Given the description of an element on the screen output the (x, y) to click on. 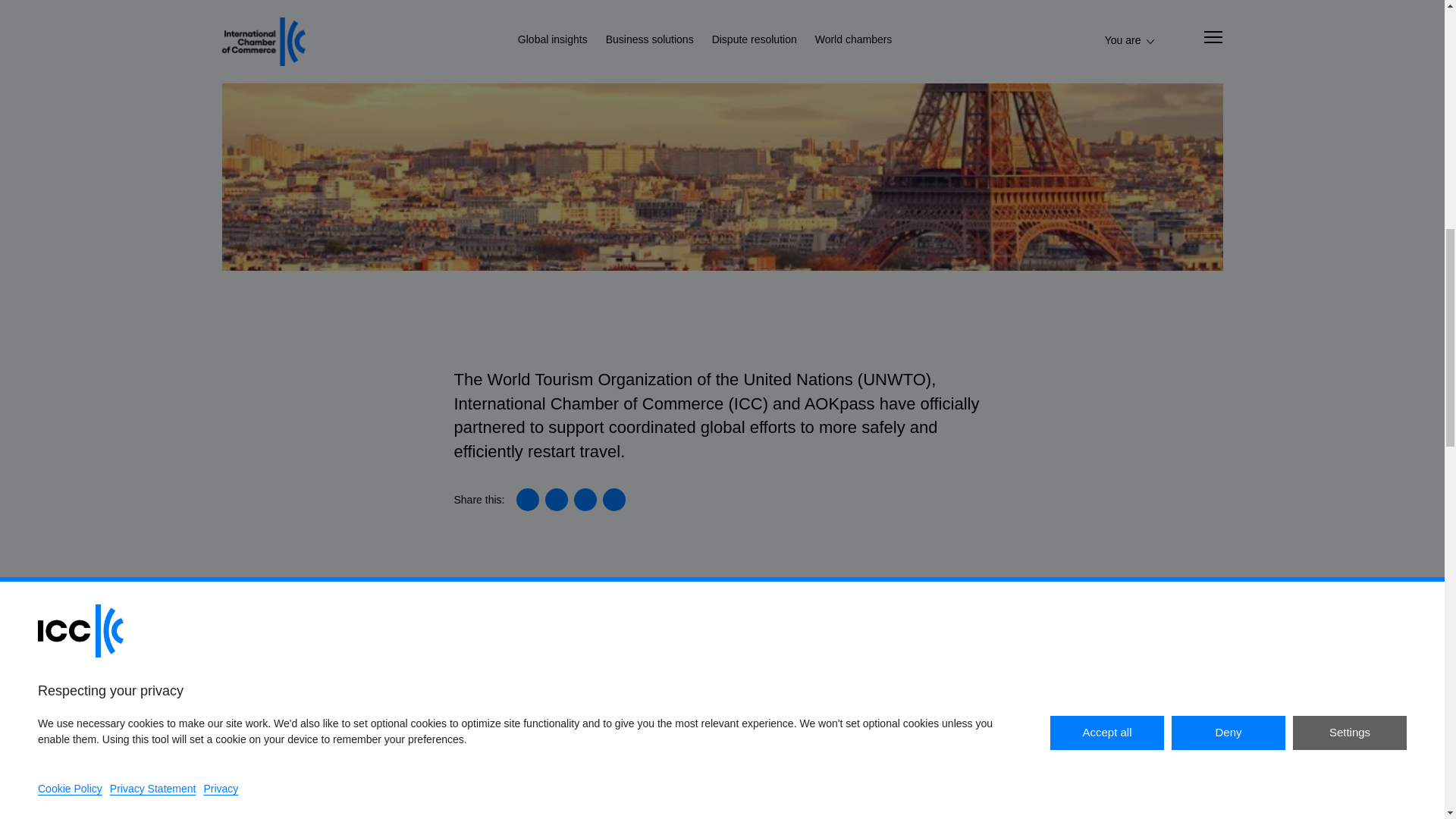
Share on X (555, 499)
Share on Facebook (584, 499)
Share on Linkedin (527, 499)
Share this article with your email software (614, 499)
